Given the description of an element on the screen output the (x, y) to click on. 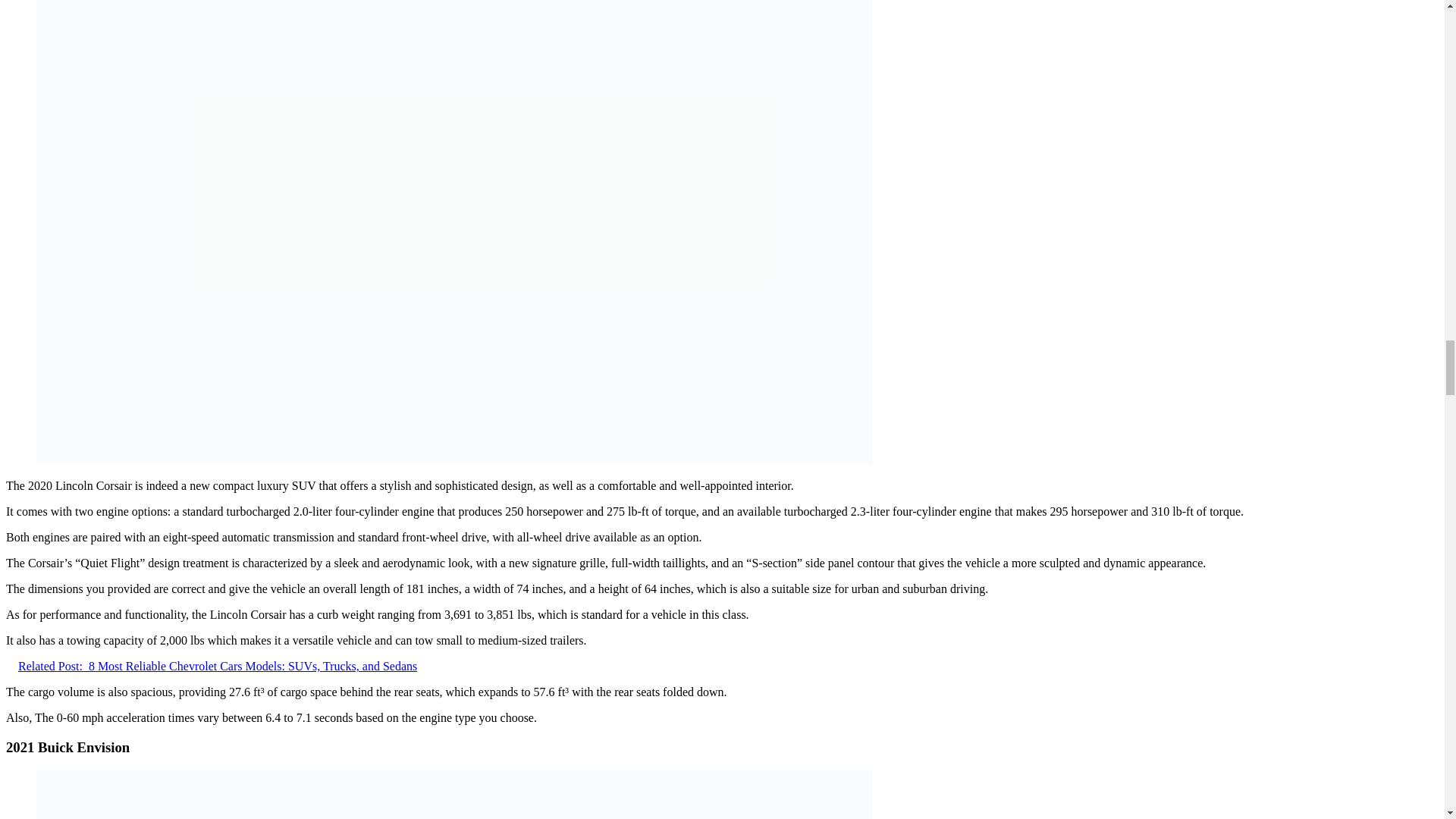
2021 Buick Envision (454, 794)
